Given the description of an element on the screen output the (x, y) to click on. 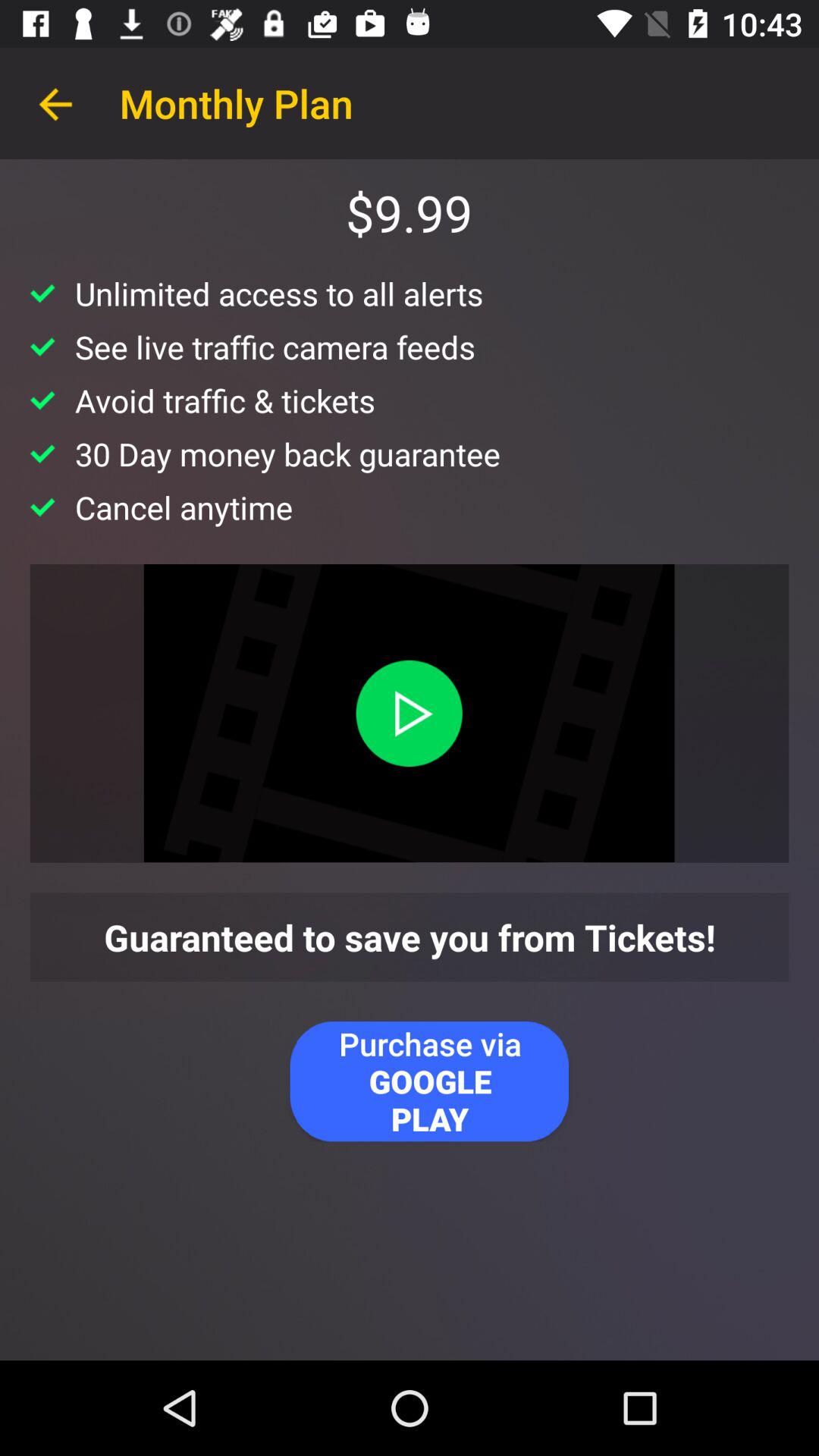
turn off the icon above the unlimited access to icon (55, 103)
